Given the description of an element on the screen output the (x, y) to click on. 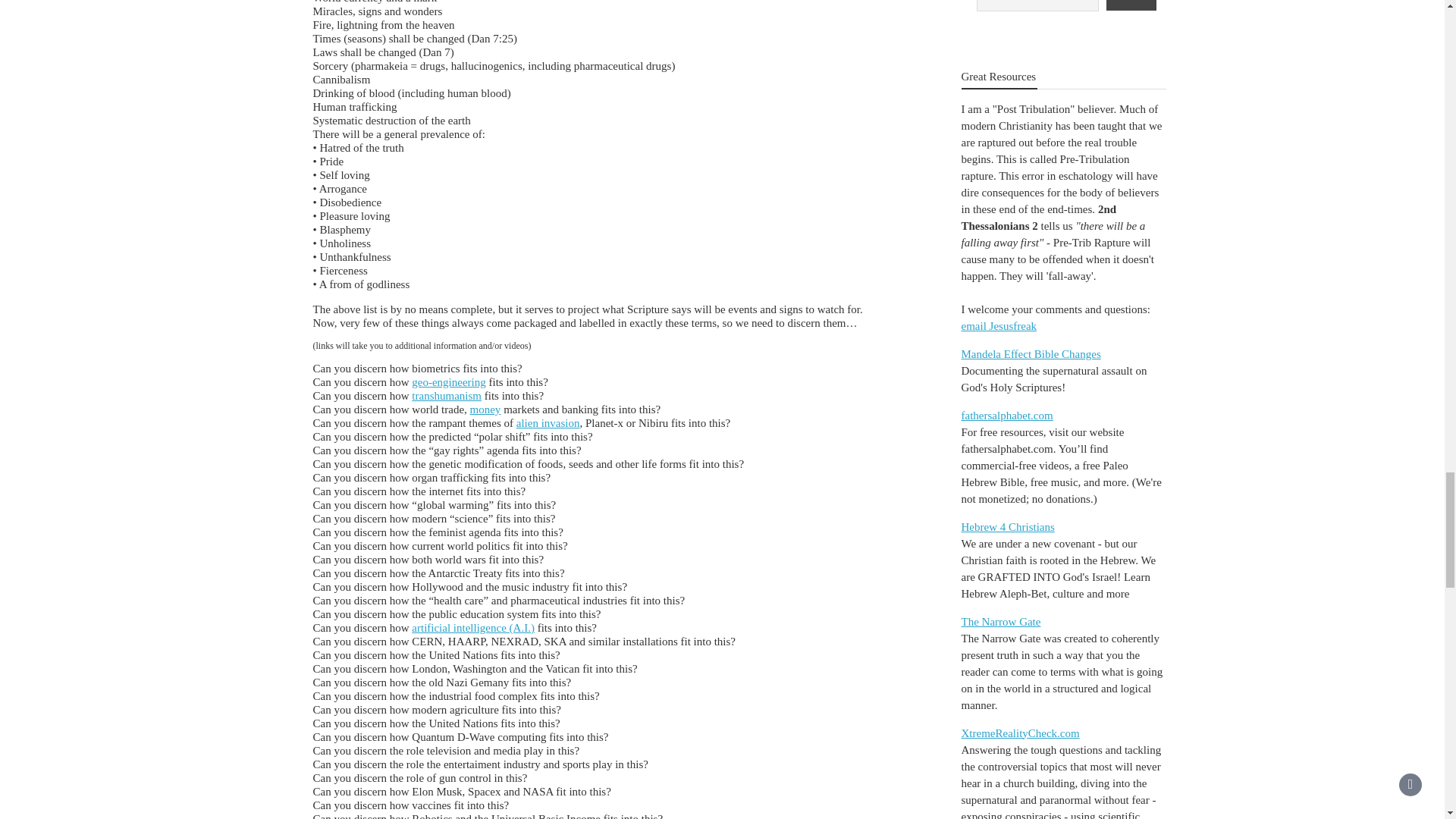
money (485, 409)
geo-engineering (448, 381)
transhumanism (446, 395)
